Given the description of an element on the screen output the (x, y) to click on. 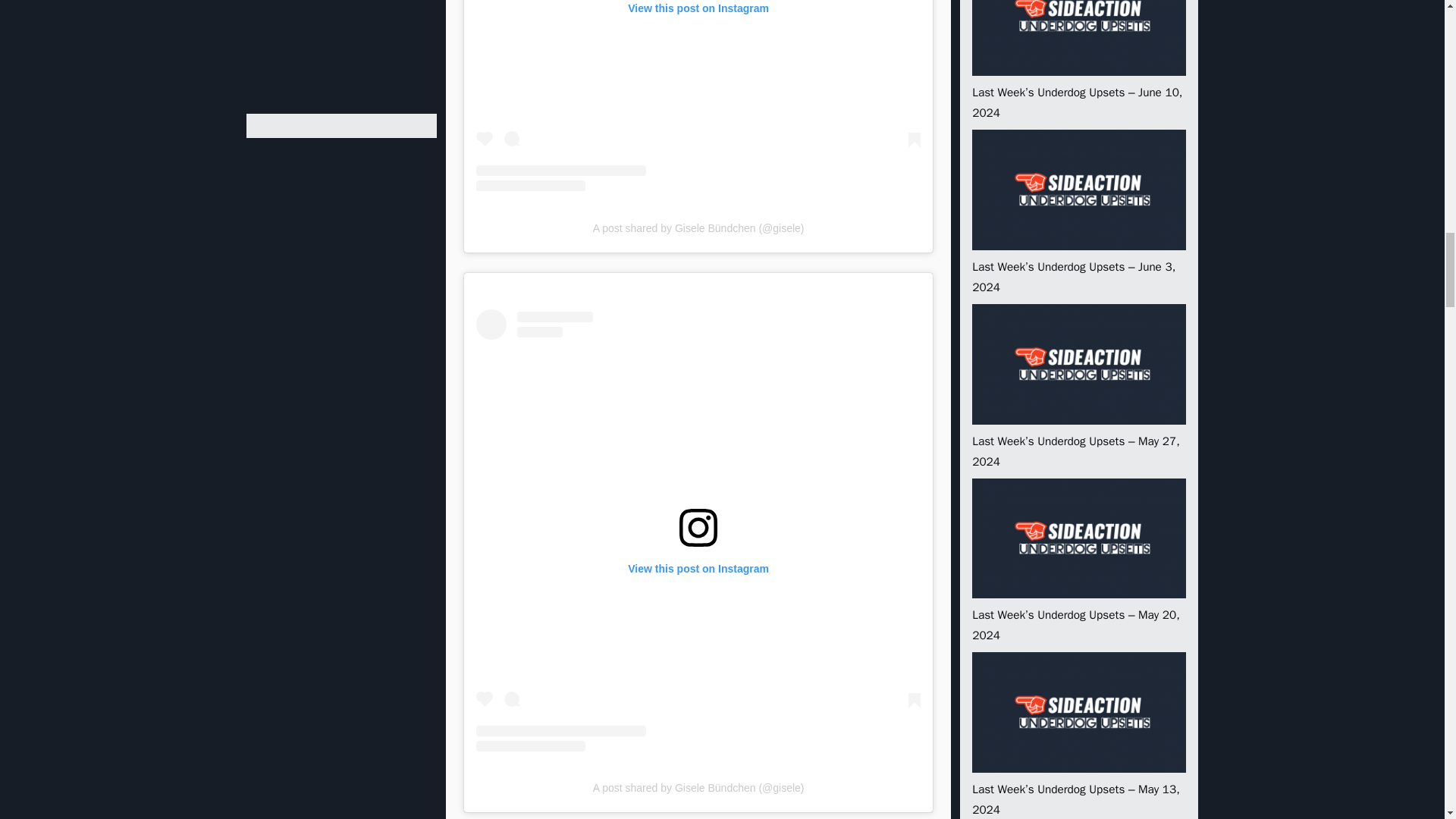
View this post on Instagram (698, 95)
